Given the description of an element on the screen output the (x, y) to click on. 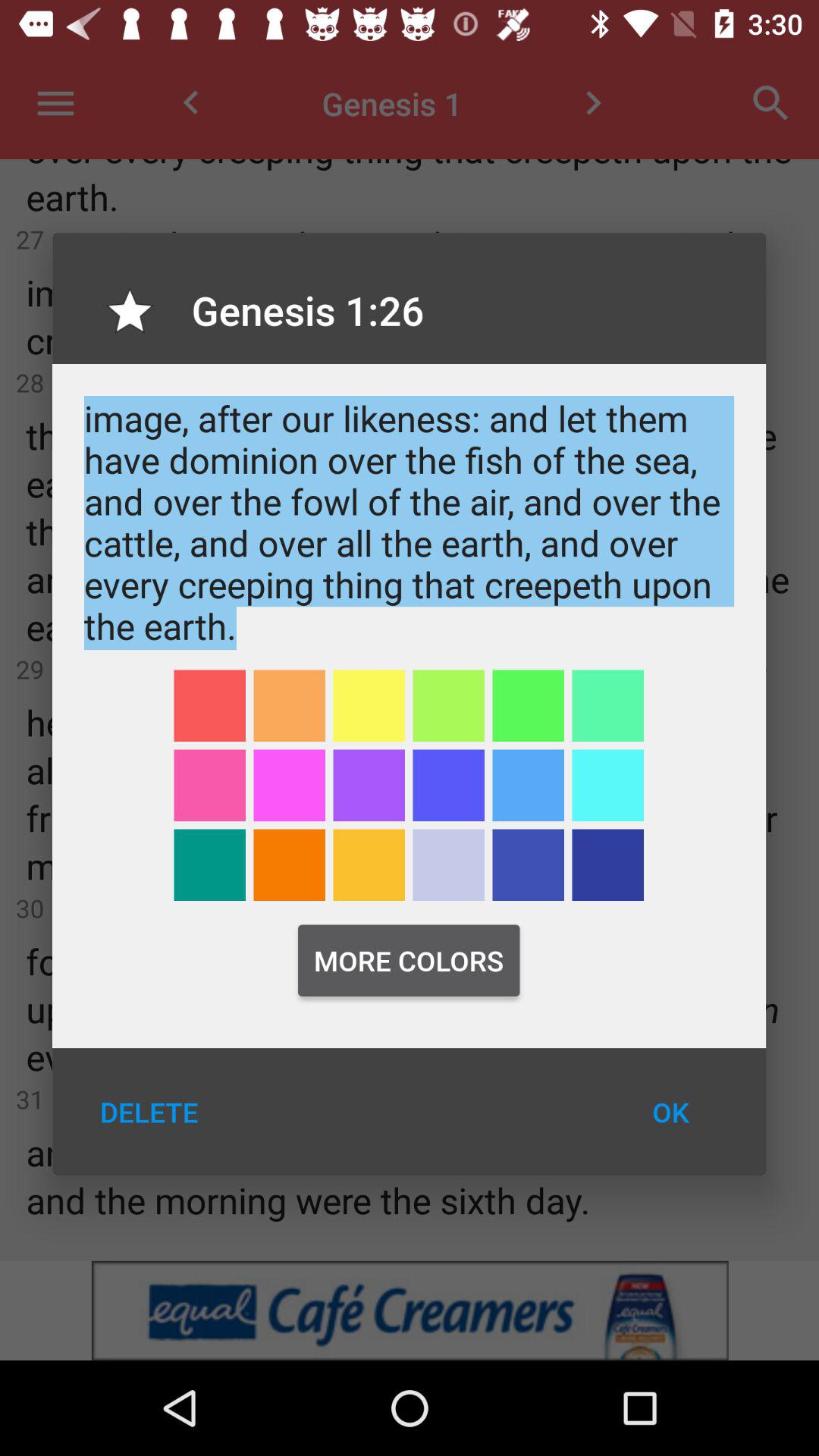
highlight with color (289, 785)
